Given the description of an element on the screen output the (x, y) to click on. 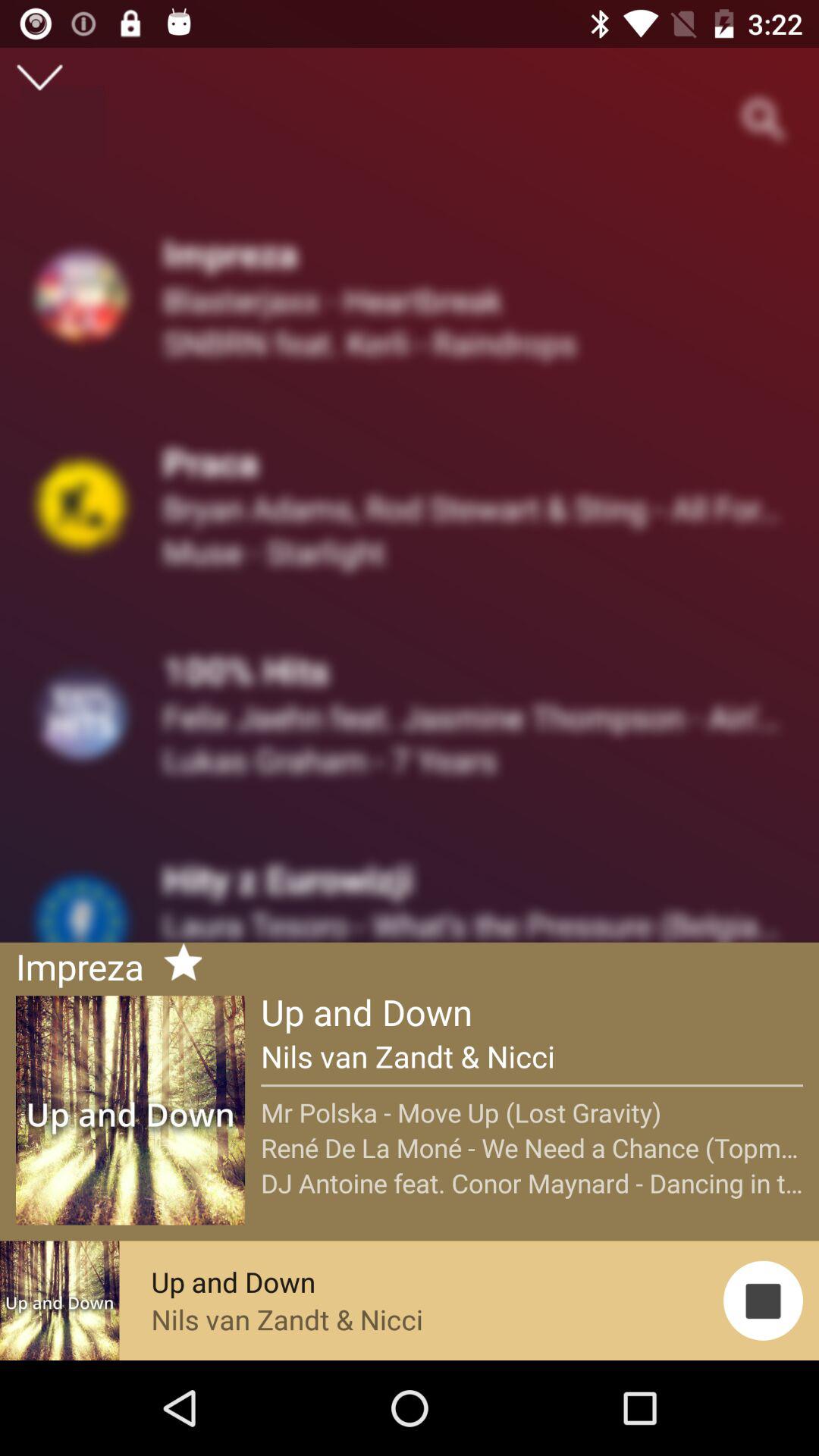
select the star after the impreza (176, 965)
select on text that reads up and down (129, 1110)
click on right corner symbol at the botteom (763, 1300)
